Given the description of an element on the screen output the (x, y) to click on. 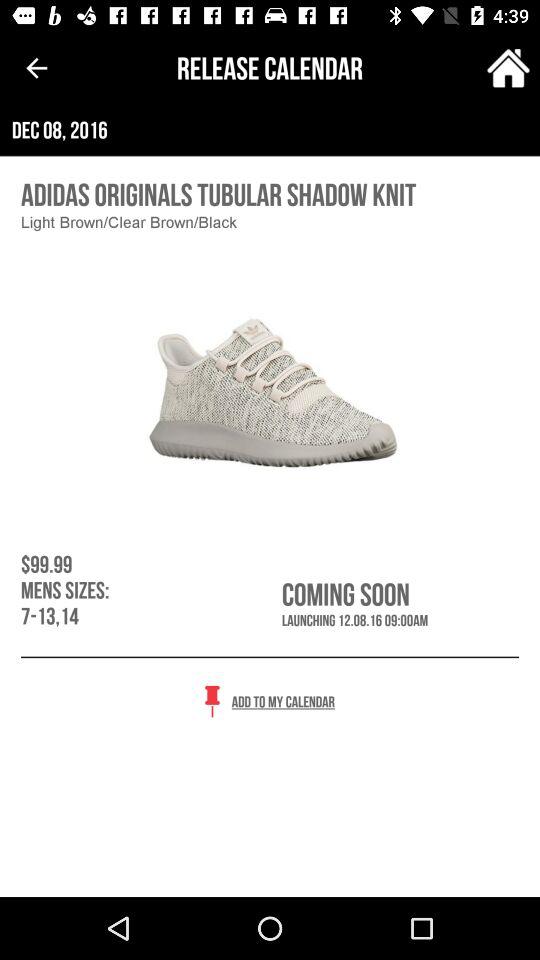
choose the icon next to the release calendar (36, 68)
